Given the description of an element on the screen output the (x, y) to click on. 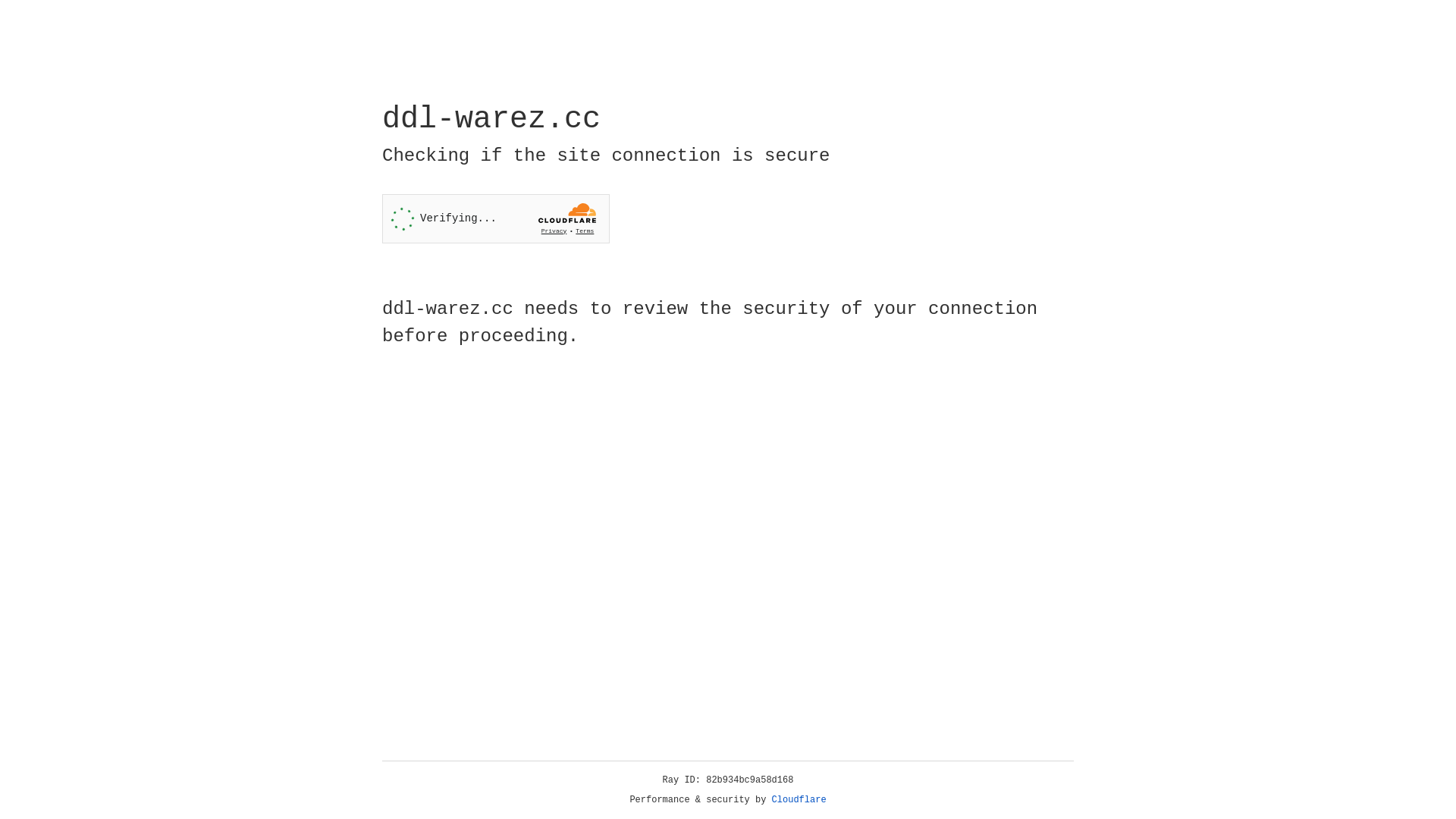
Widget containing a Cloudflare security challenge Element type: hover (495, 218)
Cloudflare Element type: text (798, 799)
